Given the description of an element on the screen output the (x, y) to click on. 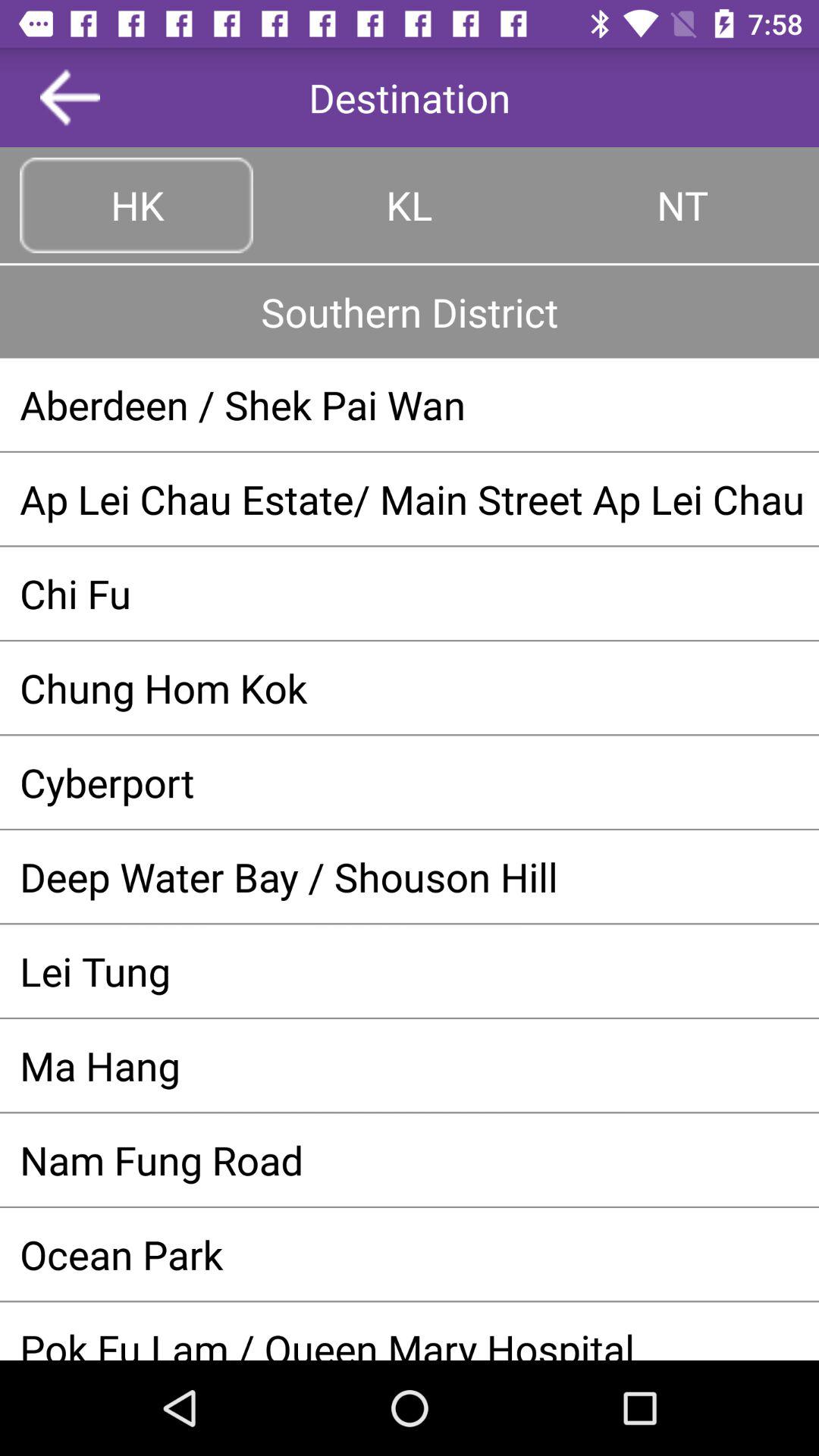
select item to the left of the destination (69, 97)
